Given the description of an element on the screen output the (x, y) to click on. 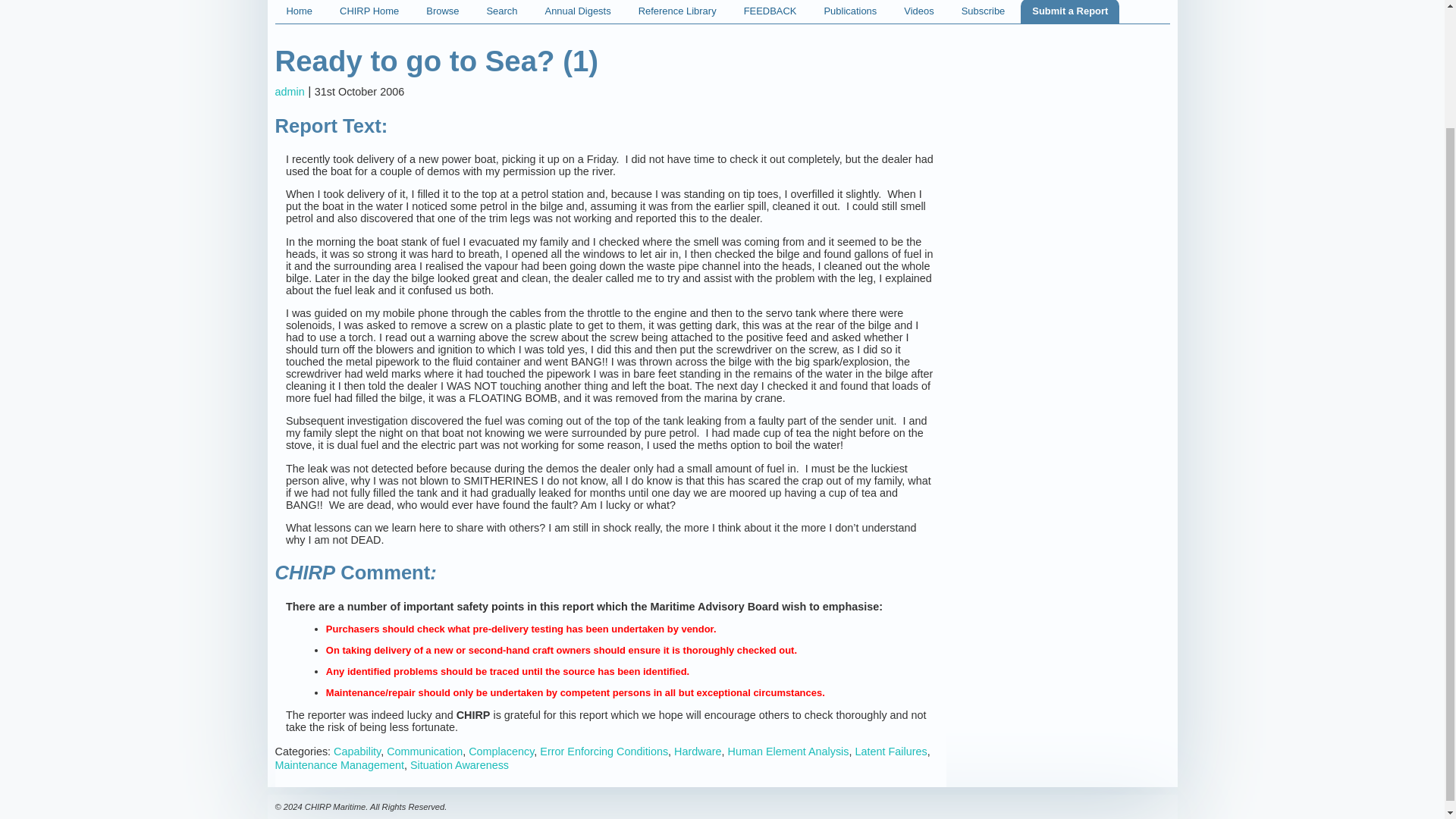
Human Element Analysis (788, 751)
Posts by admin (289, 91)
Complacency (501, 751)
Latent Failures (890, 751)
Home (299, 11)
Error Enforcing Conditions (604, 751)
Subscribe (983, 11)
Hardware (697, 751)
Videos (918, 11)
Submit a Report (1069, 11)
